Given the description of an element on the screen output the (x, y) to click on. 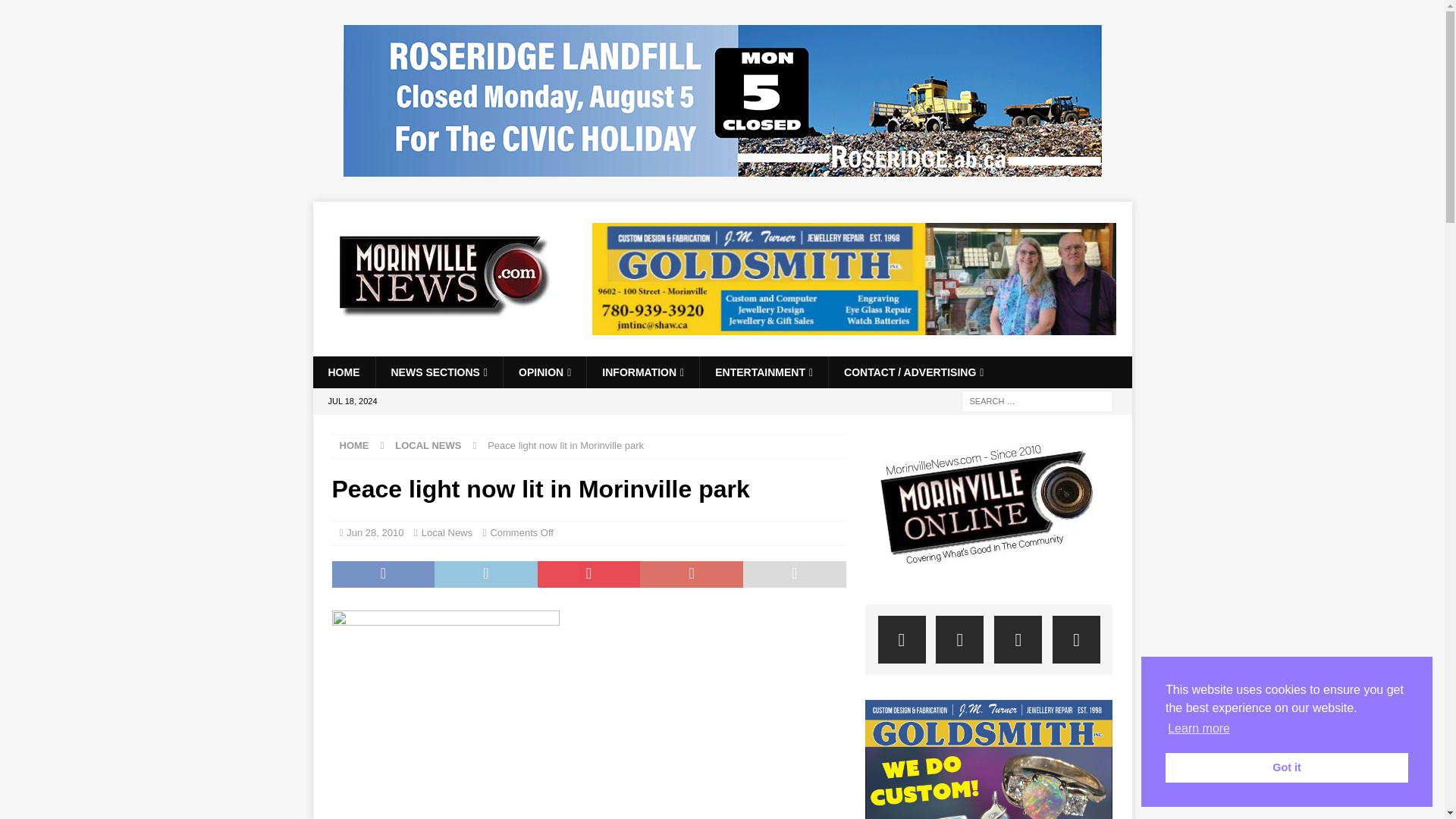
St. Jean Baptiste Festival 2010  37 (445, 714)
